Given the description of an element on the screen output the (x, y) to click on. 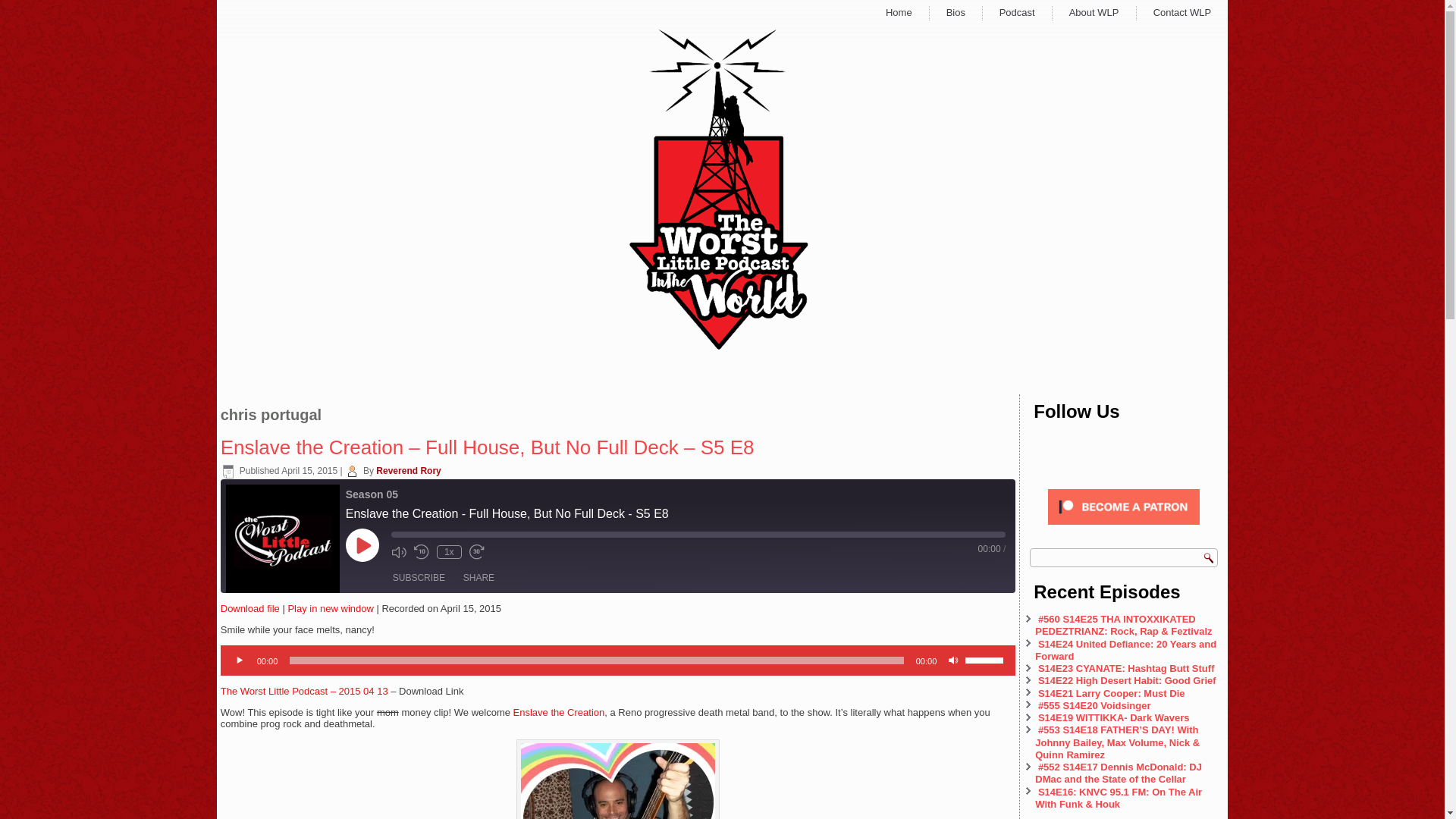
Home (898, 12)
Home (898, 12)
Bios (955, 12)
About WLP (1094, 12)
Fast Forward 30 seconds (476, 551)
Contact WLP (1182, 12)
Podcast (1017, 12)
Reverend Rory (408, 470)
Podcast (1017, 12)
SUBSCRIBE (418, 577)
